Given the description of an element on the screen output the (x, y) to click on. 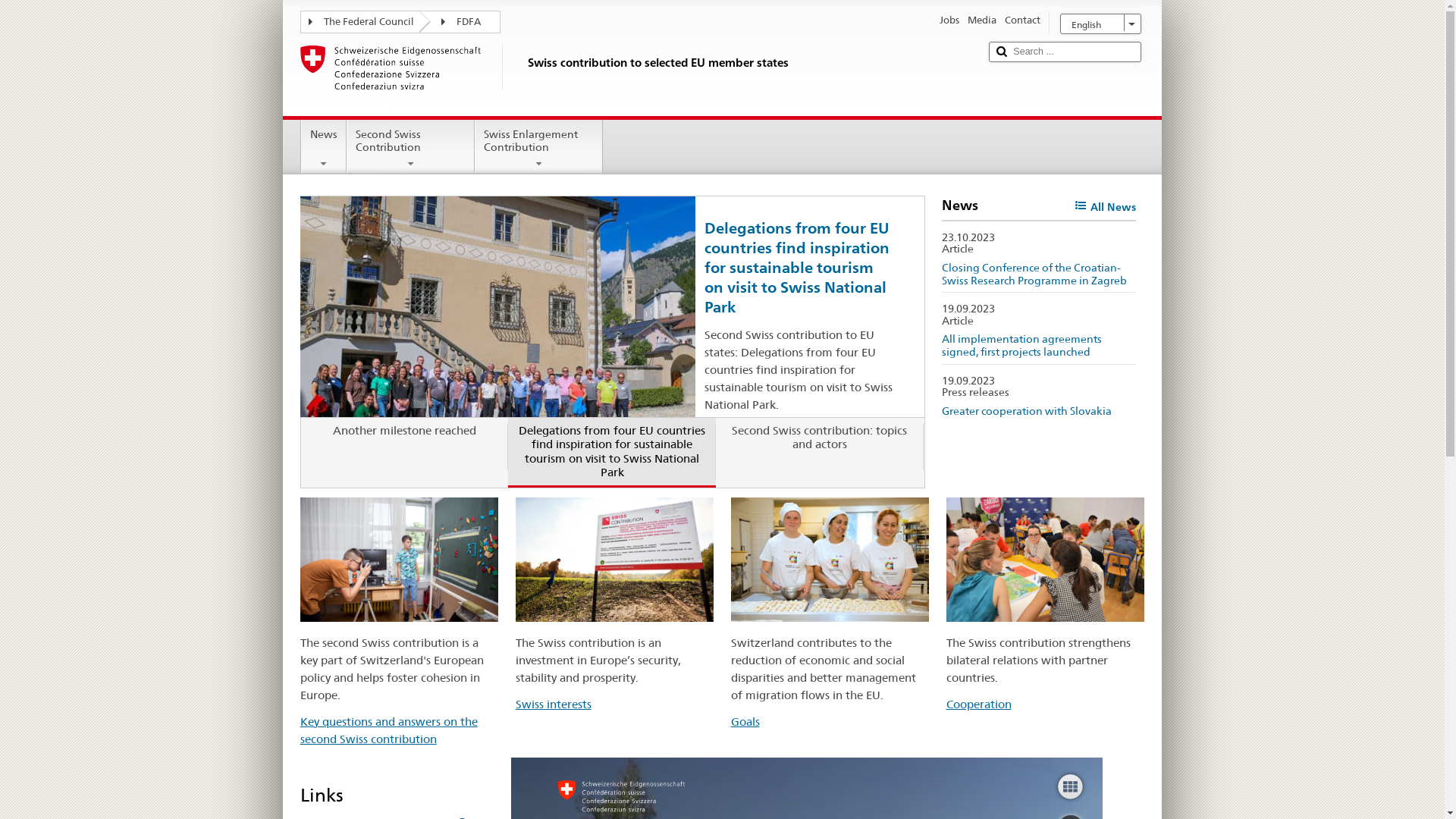
All News Element type: text (1105, 206)
Media Element type: text (981, 20)
Greater cooperation with Slovakia Element type: text (1026, 410)
Jobs Element type: text (949, 20)
Cooperation Element type: text (978, 703)
Contact Element type: text (1022, 20)
Another milestone reached Element type: text (404, 447)
Second Swiss contribution: topics and actors Element type: text (819, 447)
Swiss contribution to selected EU member states Element type: text (638, 77)
Submit Element type: text (1001, 51)
Swiss interests Element type: text (553, 703)
Swiss Enlargement Contribution Element type: text (538, 144)
FDFA Element type: text (466, 20)
The Federal Council Element type: text (367, 20)
Second Swiss Contribution Element type: text (410, 144)
English Element type: text (1100, 23)
Goals Element type: text (745, 721)
News Element type: text (323, 144)
Key questions and answers on the second Swiss contribution Element type: text (388, 730)
